Given the description of an element on the screen output the (x, y) to click on. 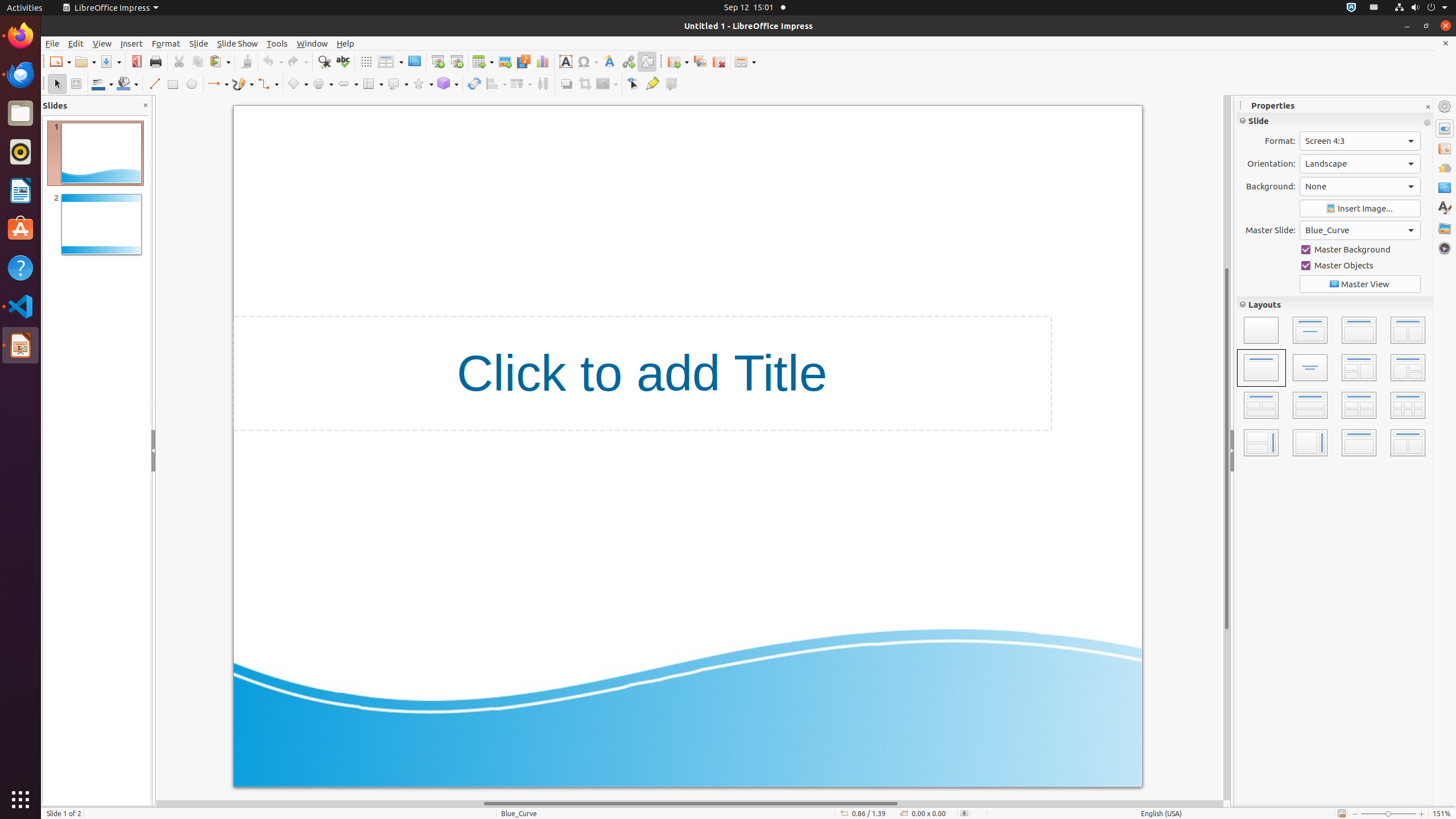
Open Element type: push-button (84, 61)
LibreOffice Impress Element type: push-button (20, 344)
Files Element type: push-button (20, 113)
Navigator Element type: radio-button (1444, 247)
:1.72/StatusNotifierItem Element type: menu (1350, 7)
